Given the description of an element on the screen output the (x, y) to click on. 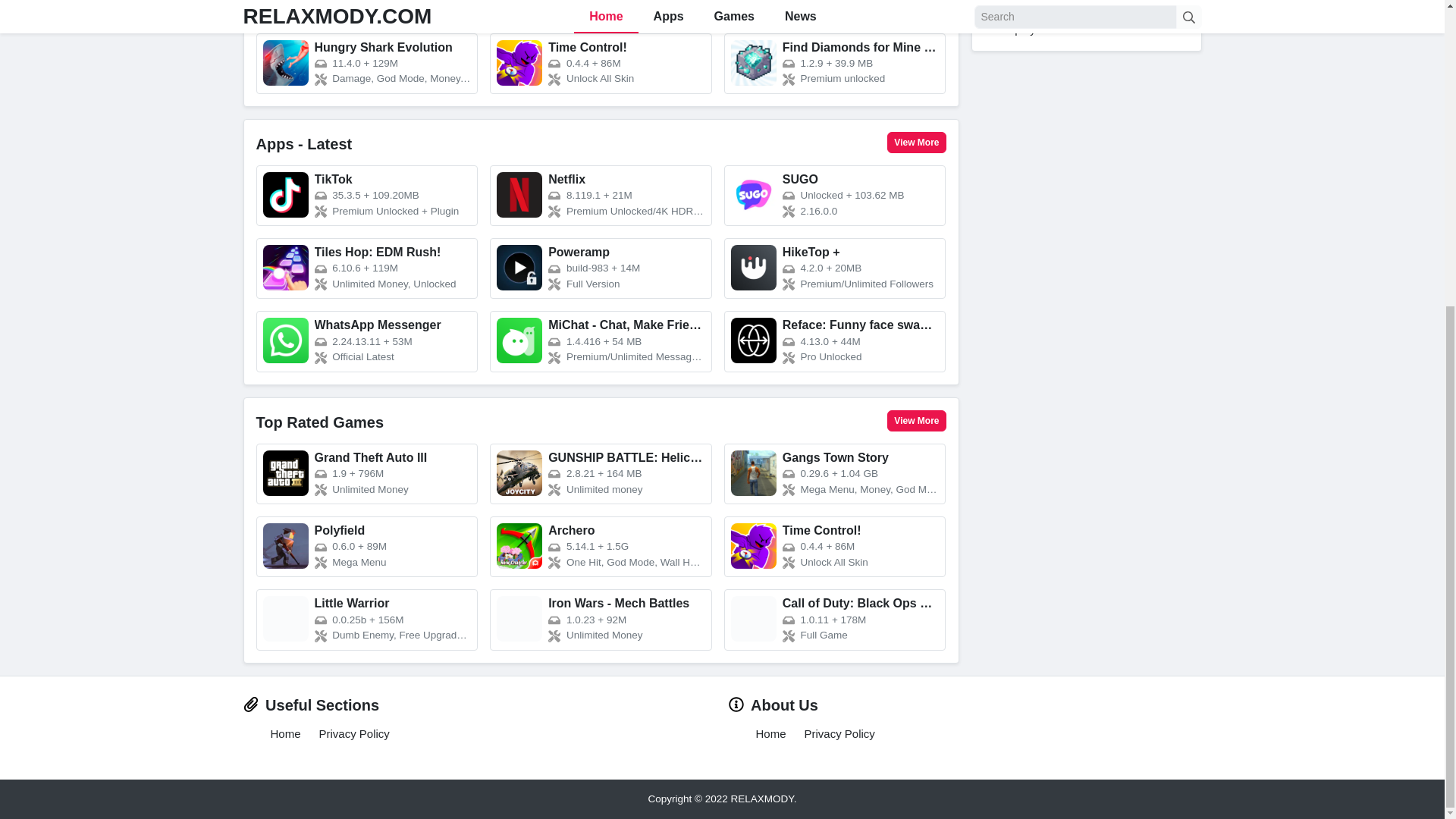
Poweramp (600, 268)
Toca Life World (834, 10)
Apps - Latest (304, 143)
Netflix (600, 195)
Archero (600, 10)
Time Control! (600, 63)
Tiles Hop: EDM Rush! (367, 268)
View More (915, 142)
View More (915, 420)
Top Rated Games (320, 422)
SUGO (834, 195)
TikTok (367, 195)
Hungry Shark Evolution (367, 63)
